Given the description of an element on the screen output the (x, y) to click on. 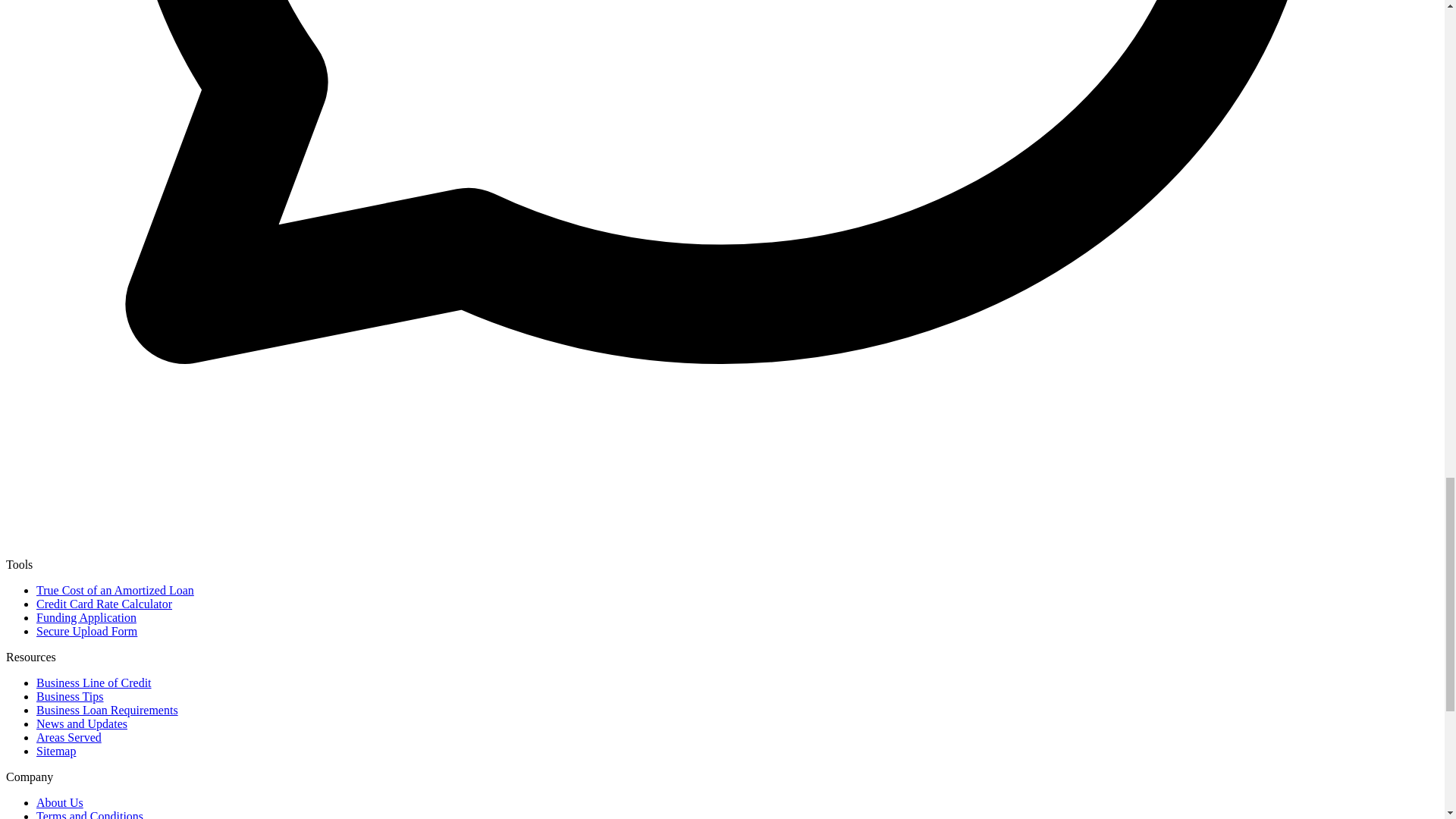
Areas Served (68, 737)
Secure Upload Form (86, 631)
Terms and Conditions (89, 814)
Credit Card Rate Calculator (103, 603)
Sitemap (55, 750)
True Cost of an Amortized Loan (114, 590)
Business Loan Requirements (106, 709)
About Us (59, 802)
Business Line of Credit (93, 682)
News and Updates (82, 723)
Business Tips (69, 696)
Funding Application (86, 617)
